Given the description of an element on the screen output the (x, y) to click on. 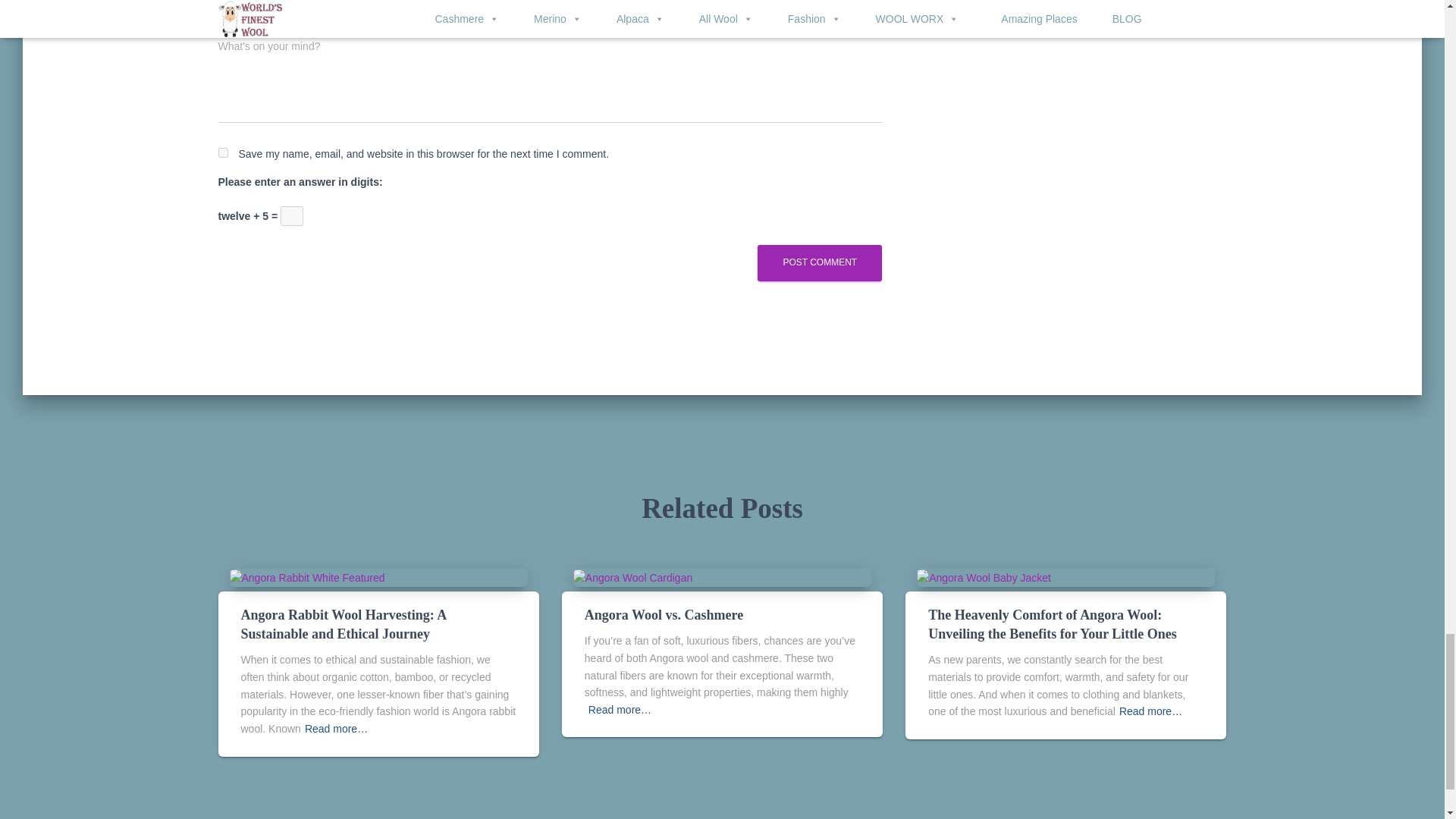
Post Comment (819, 262)
Angora Wool vs. Cashmere (633, 576)
Angora Wool vs. Cashmere (663, 614)
yes (223, 153)
